Given the description of an element on the screen output the (x, y) to click on. 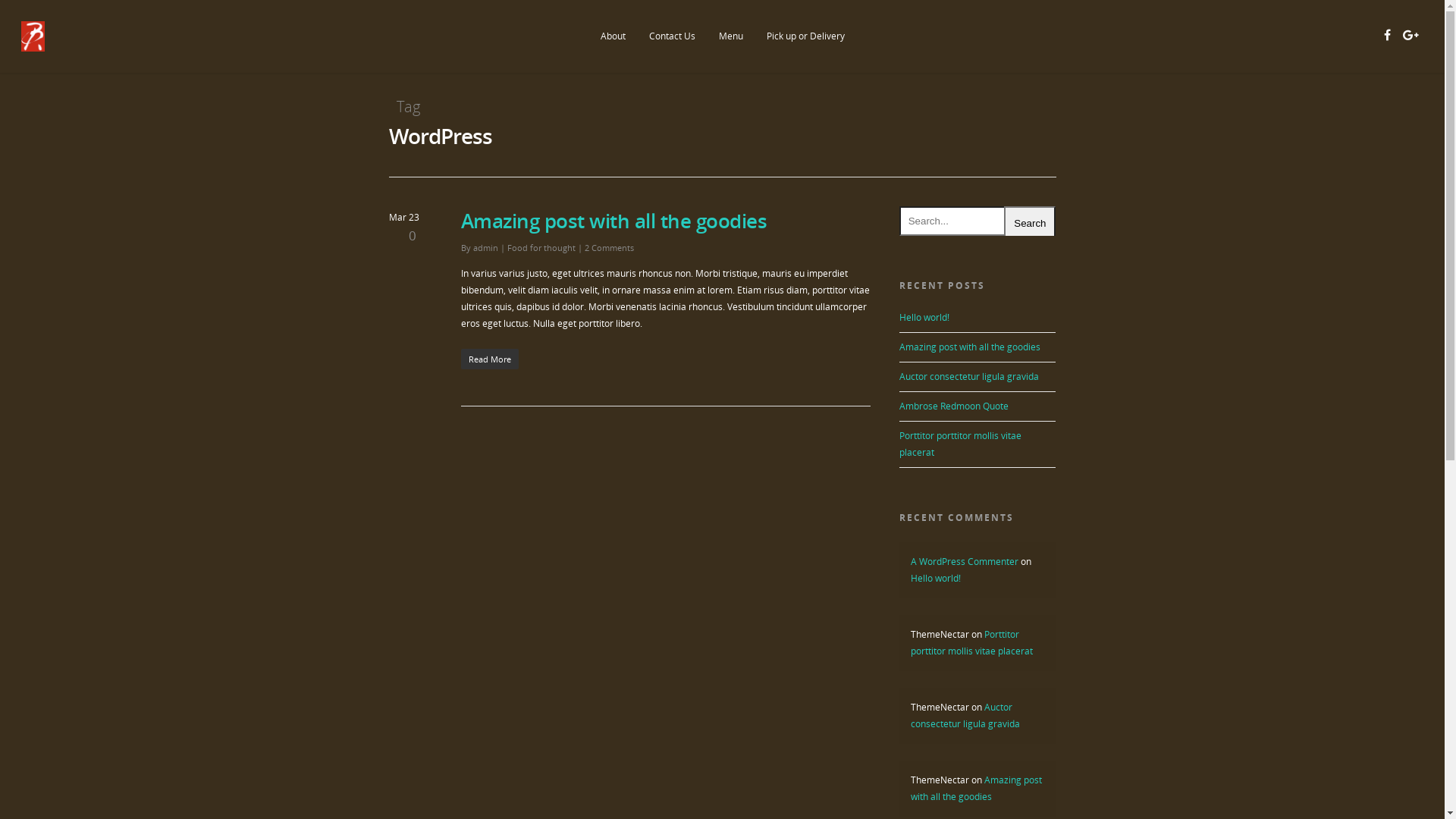
Menu Element type: text (730, 46)
Hello world! Element type: text (935, 577)
Porttitor porttitor mollis vitae placerat Element type: text (960, 443)
Amazing post with all the goodies Element type: text (969, 346)
Porttitor porttitor mollis vitae placerat Element type: text (971, 642)
2 Comments Element type: text (608, 247)
Read More Element type: text (666, 359)
Contact Us Element type: text (671, 46)
Search for: Element type: hover (977, 220)
Search Element type: text (1029, 223)
Food for thought Element type: text (540, 247)
0 Element type: text (403, 236)
admin Element type: text (485, 247)
Auctor consectetur ligula gravida Element type: text (968, 376)
Hello world! Element type: text (924, 316)
About Element type: text (611, 46)
A WordPress Commenter Element type: text (964, 561)
Auctor consectetur ligula gravida Element type: text (964, 715)
Pick up or Delivery Element type: text (805, 46)
Amazing post with all the goodies Element type: text (975, 788)
Amazing post with all the goodies Element type: text (614, 220)
Ambrose Redmoon Quote Element type: text (953, 405)
